Given the description of an element on the screen output the (x, y) to click on. 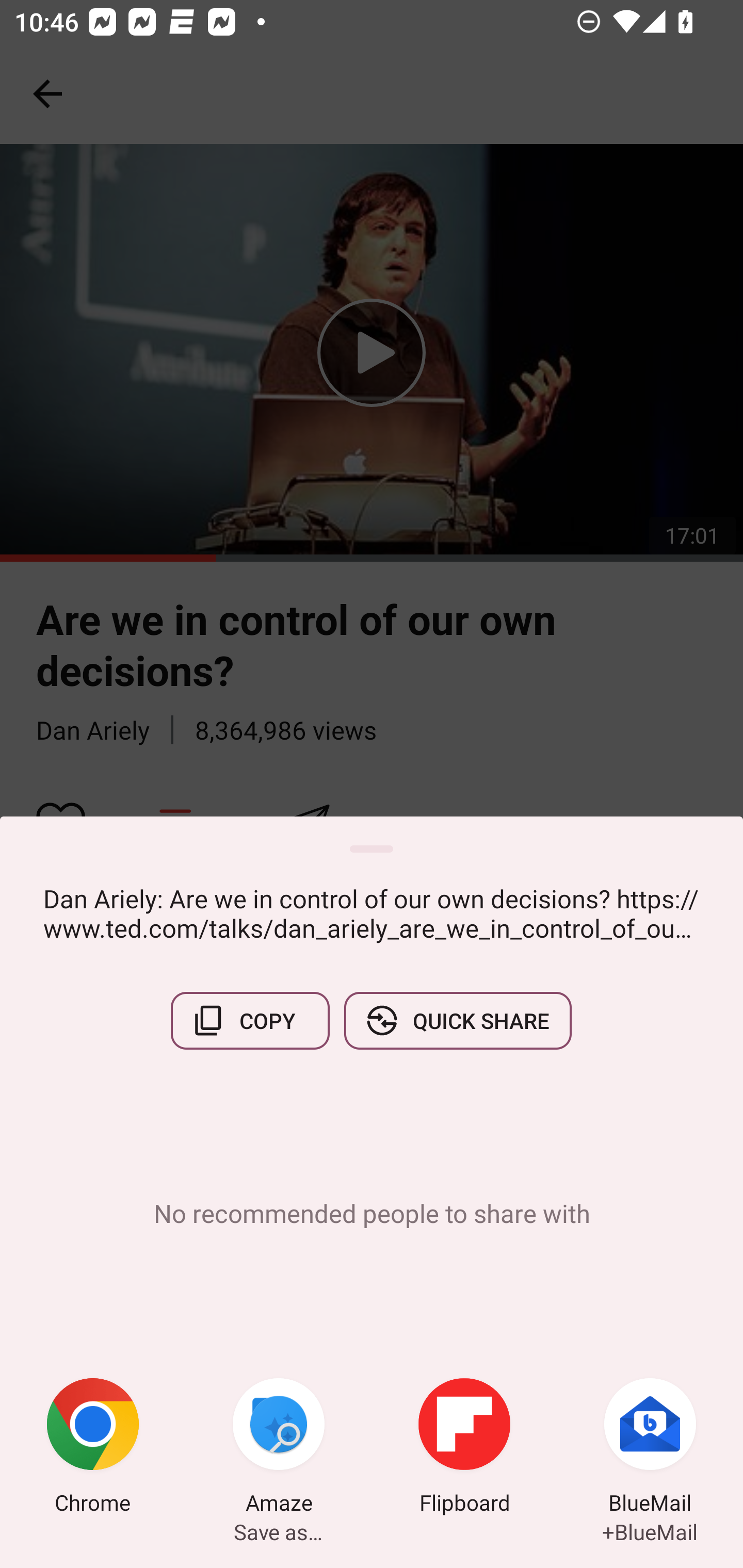
COPY (249, 1020)
QUICK SHARE (457, 1020)
Chrome (92, 1448)
Amaze Save as… (278, 1448)
Flipboard (464, 1448)
BlueMail +BlueMail (650, 1448)
